Given the description of an element on the screen output the (x, y) to click on. 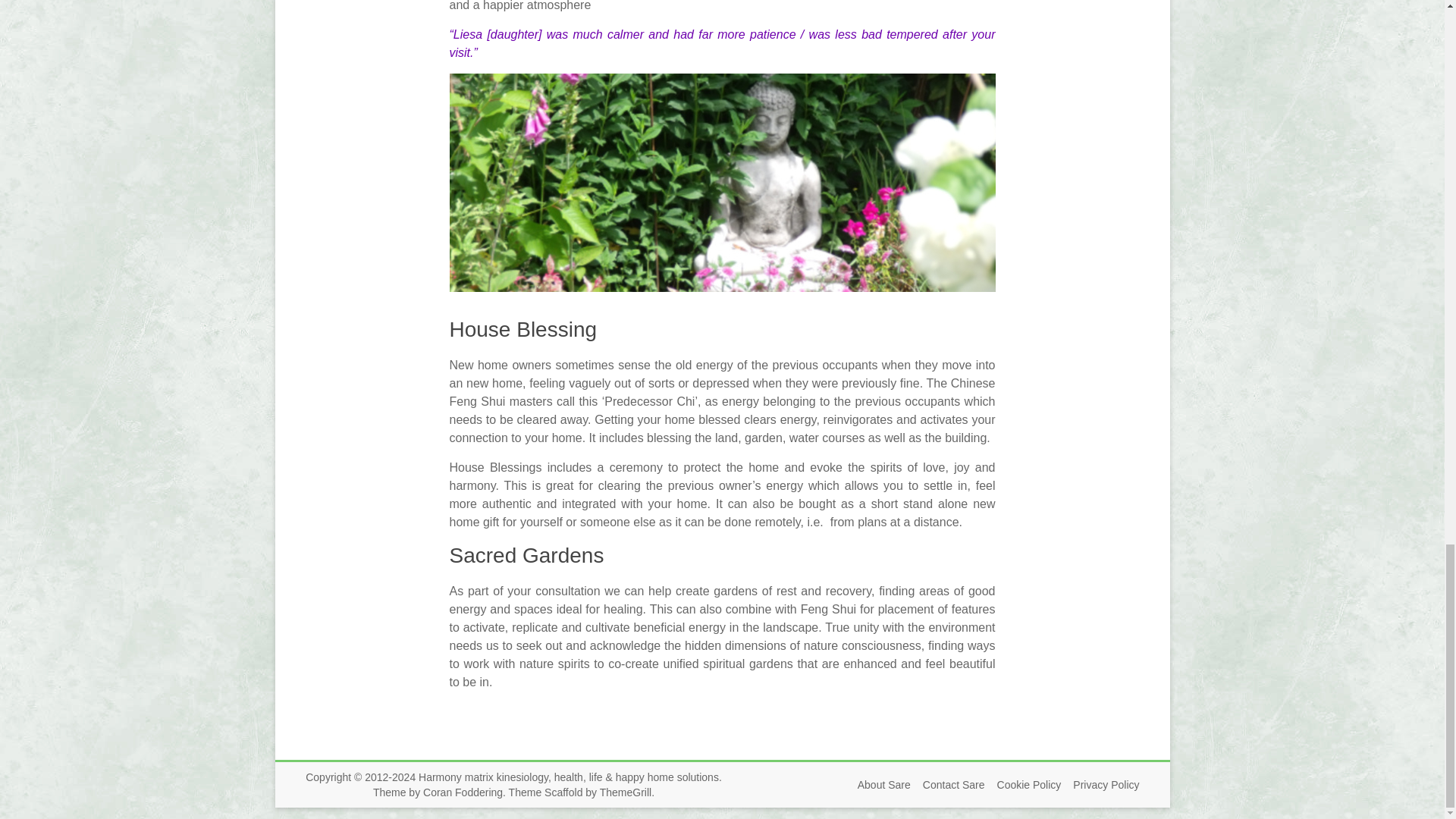
Coran Foddering (462, 792)
About Sare (878, 785)
Coran Foddering (462, 792)
ThemeGrill (624, 792)
Privacy Policy (1099, 785)
Contact Sare (948, 785)
ThemeGrill (624, 792)
Cookie Policy (1023, 785)
